Given the description of an element on the screen output the (x, y) to click on. 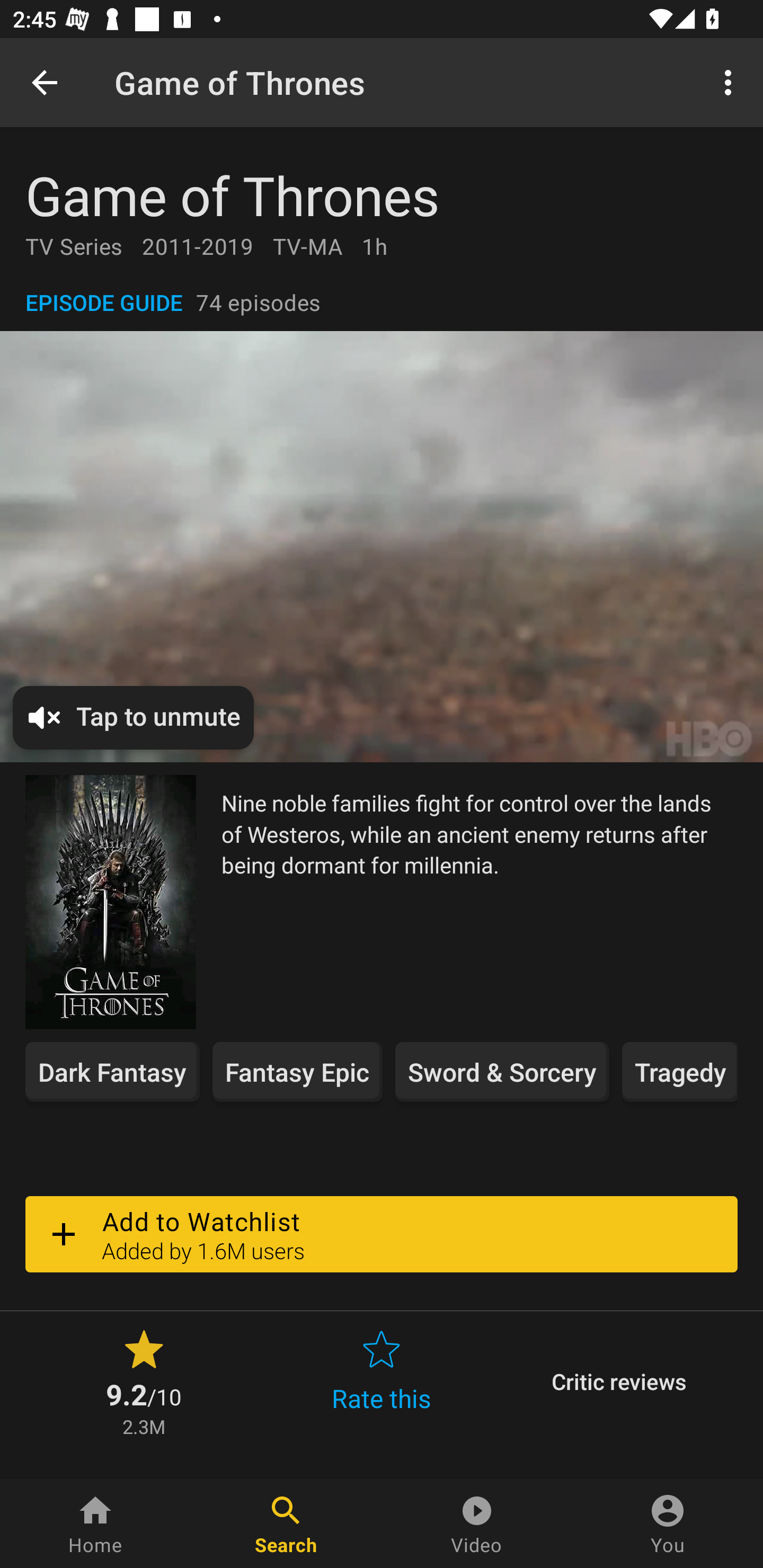
More options (731, 81)
EPISODE GUIDE 74 episodes (381, 302)
Tap to unmute (381, 546)
Tap to unmute (133, 717)
Dark Fantasy (112, 1072)
Fantasy Epic (297, 1072)
Sword & Sorcery (502, 1072)
Tragedy (679, 1072)
Add to Watchlist Added by 1.6M users (381, 1234)
9.2 /10 2.3M (143, 1381)
Rate this (381, 1381)
Critic reviews (618, 1381)
Home (95, 1523)
Video (476, 1523)
You (667, 1523)
